Given the description of an element on the screen output the (x, y) to click on. 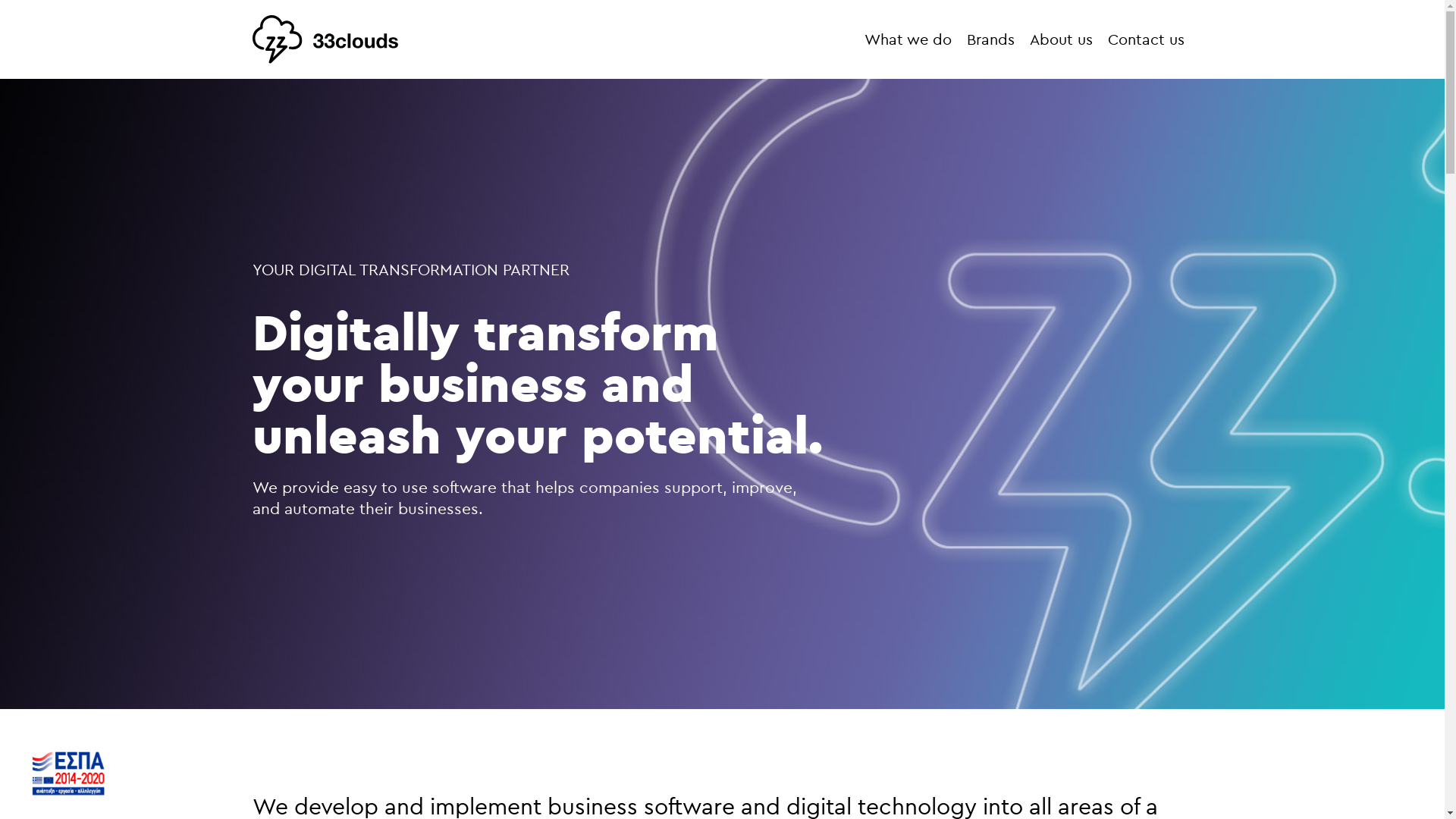
What we do Element type: text (907, 38)
Brands Element type: text (990, 38)
About us Element type: text (1061, 38)
Contact us Element type: text (1146, 38)
